Given the description of an element on the screen output the (x, y) to click on. 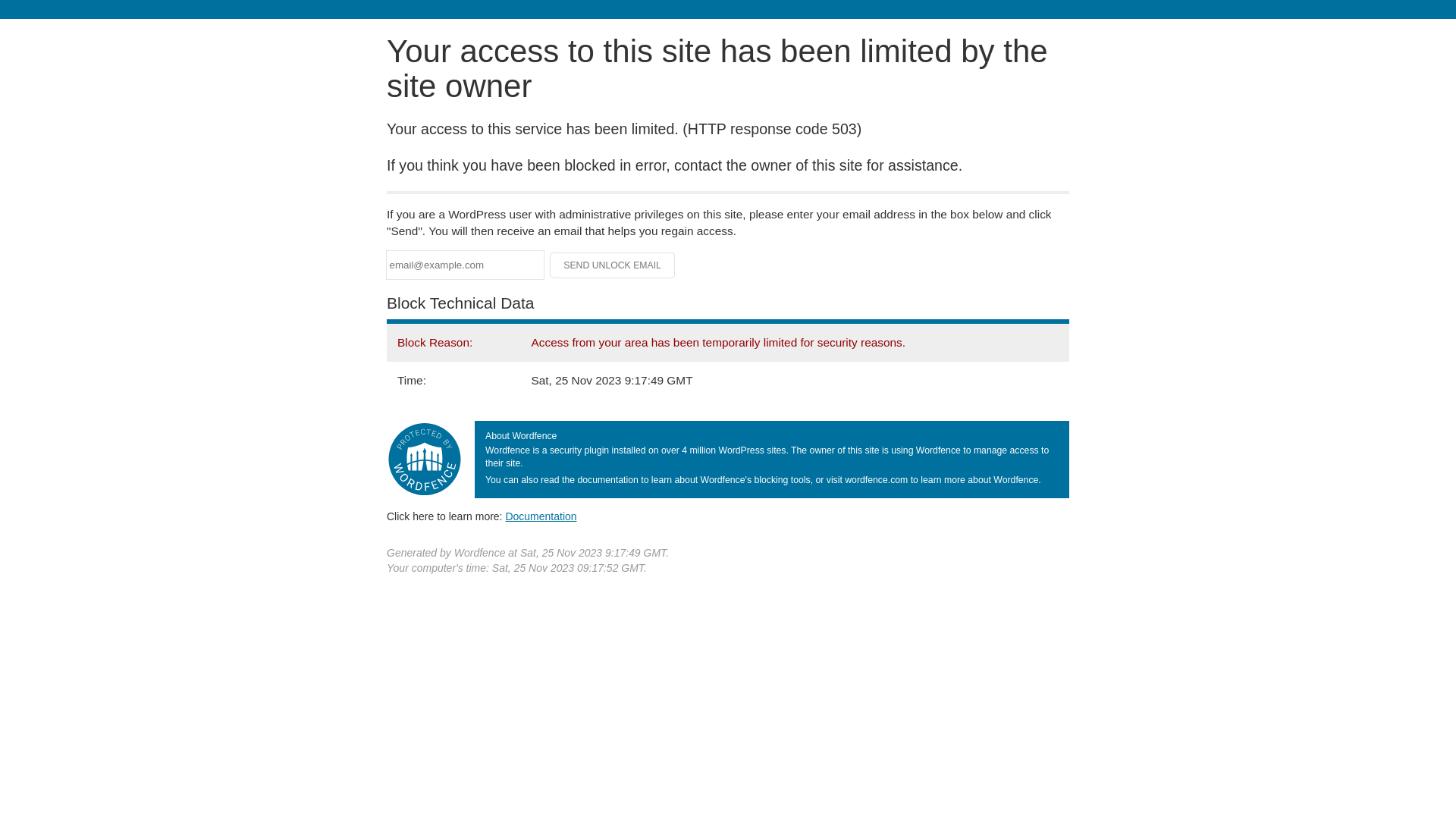
Send Unlock Email Element type: text (612, 265)
Documentation Element type: text (540, 516)
